Given the description of an element on the screen output the (x, y) to click on. 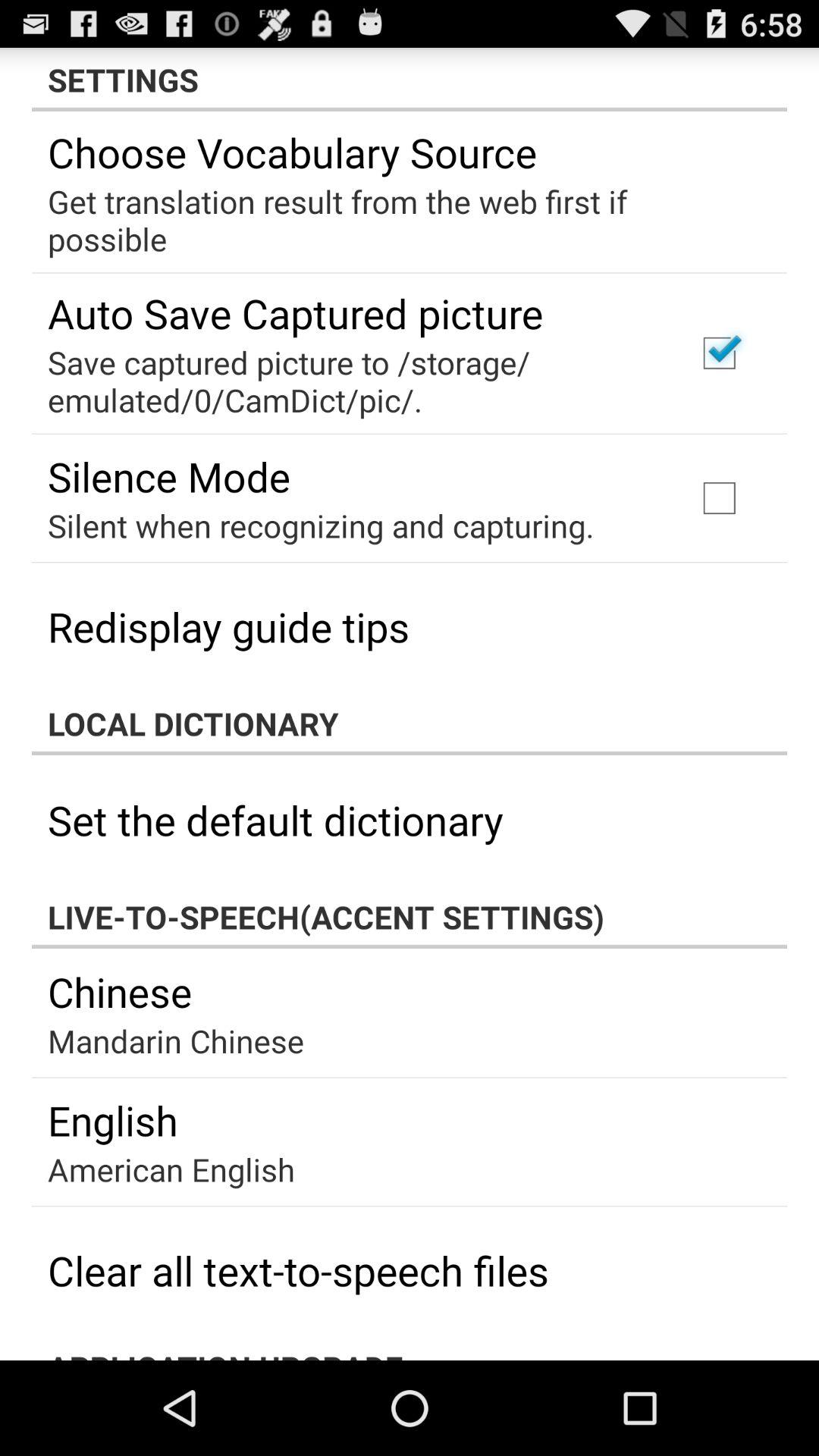
turn off app above local dictionary icon (228, 626)
